Given the description of an element on the screen output the (x, y) to click on. 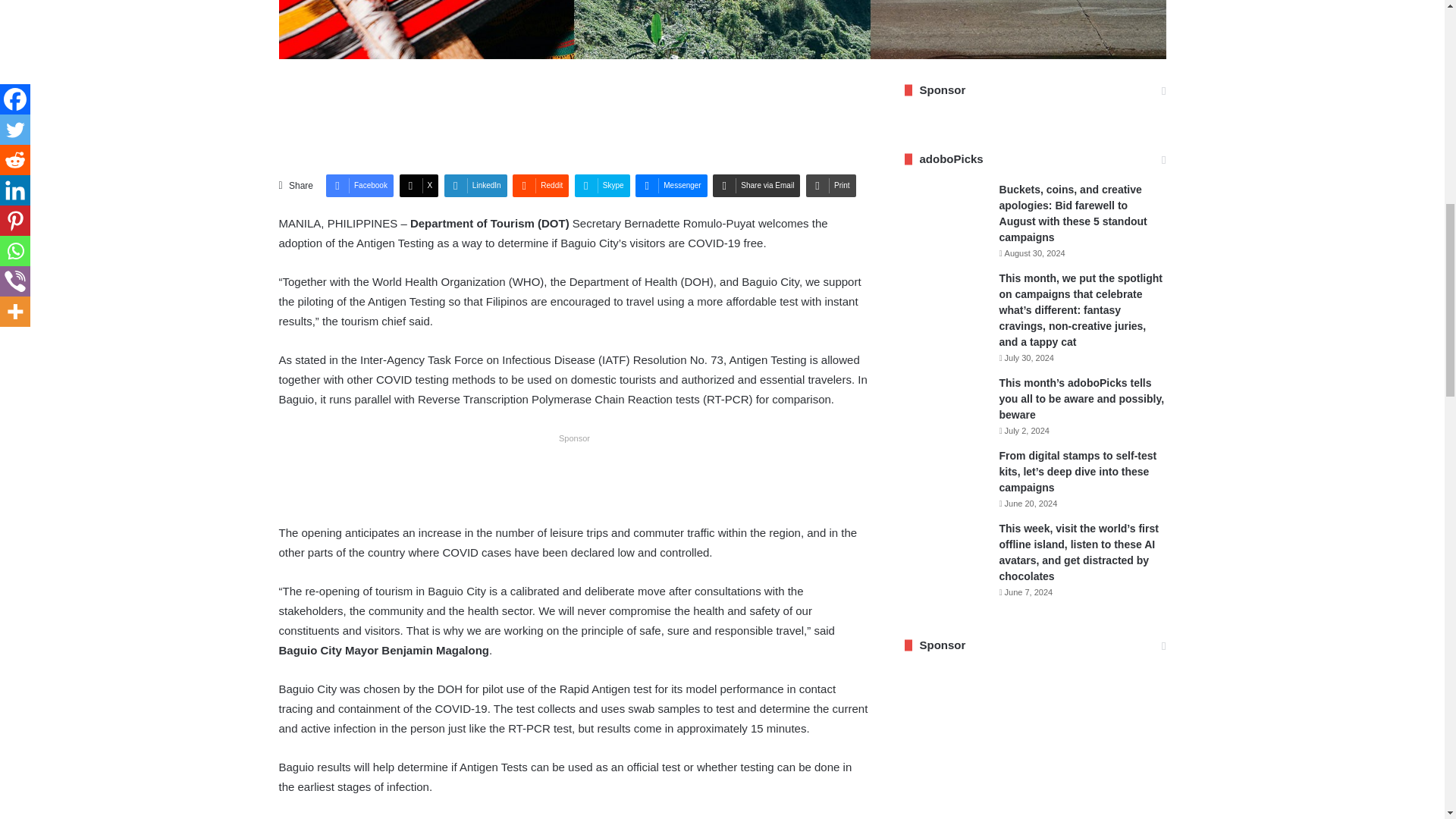
LinkedIn (475, 185)
Reddit (540, 185)
Messenger (670, 185)
X (418, 185)
Share via Email (756, 185)
Skype (602, 185)
Facebook (359, 185)
